Given the description of an element on the screen output the (x, y) to click on. 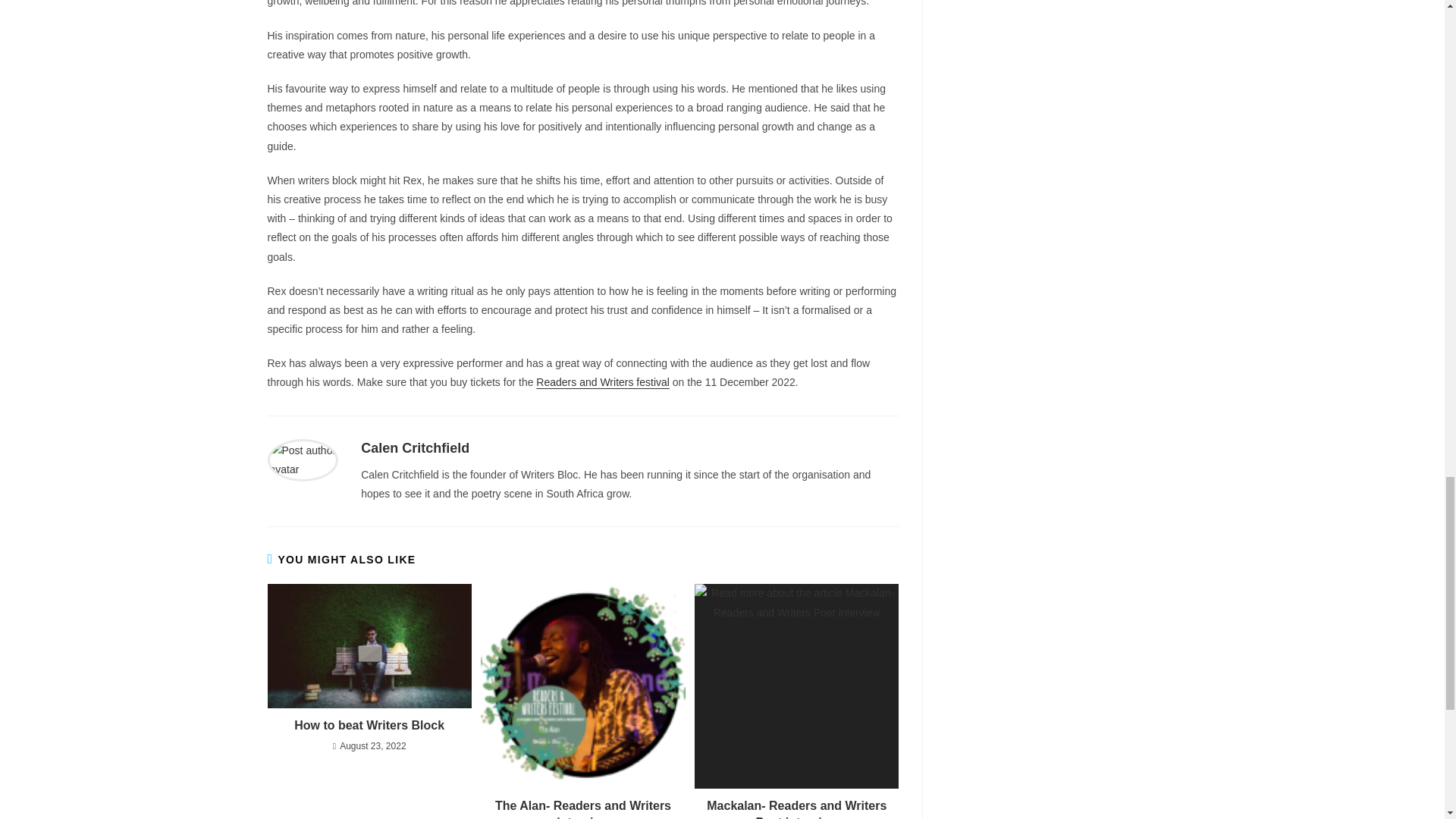
Readers and Writers festival (602, 381)
Visit author page (301, 459)
Readers and Writers festival (602, 381)
Mackalan- Readers and Writers Poet interview (796, 808)
Visit author page (414, 447)
The Alan- Readers and Writers interview (582, 808)
Calen Critchfield (414, 447)
How to beat Writers Block (368, 725)
